Given the description of an element on the screen output the (x, y) to click on. 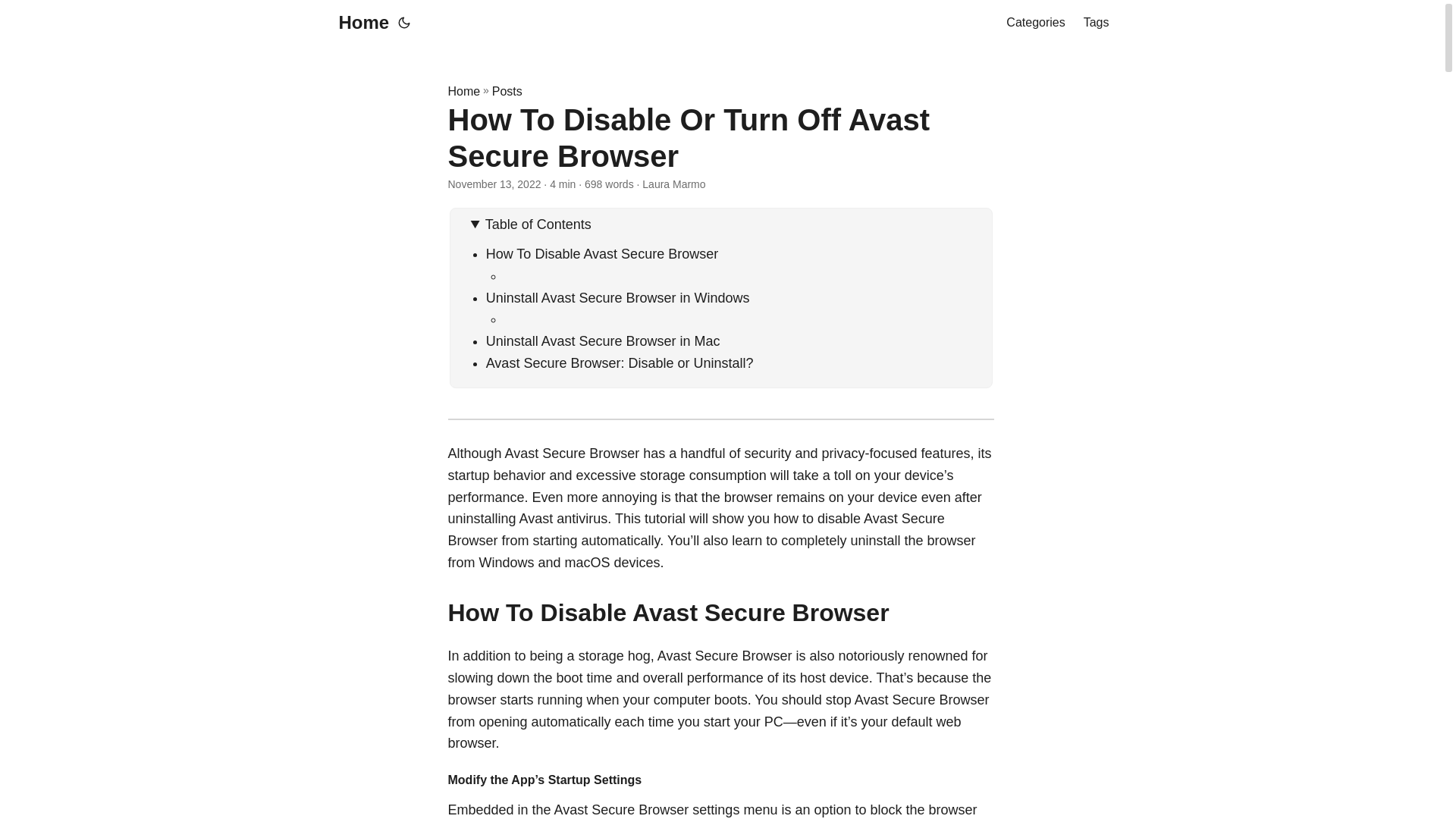
Categories (1035, 22)
Avast Secure Browser: Disable or Uninstall? (620, 363)
Posts (507, 91)
Uninstall Avast Secure Browser in Windows (617, 297)
Home (463, 91)
Home (359, 22)
Categories (1035, 22)
How To Disable Avast Secure Browser (601, 253)
Uninstall Avast Secure Browser in Mac (603, 340)
